Given the description of an element on the screen output the (x, y) to click on. 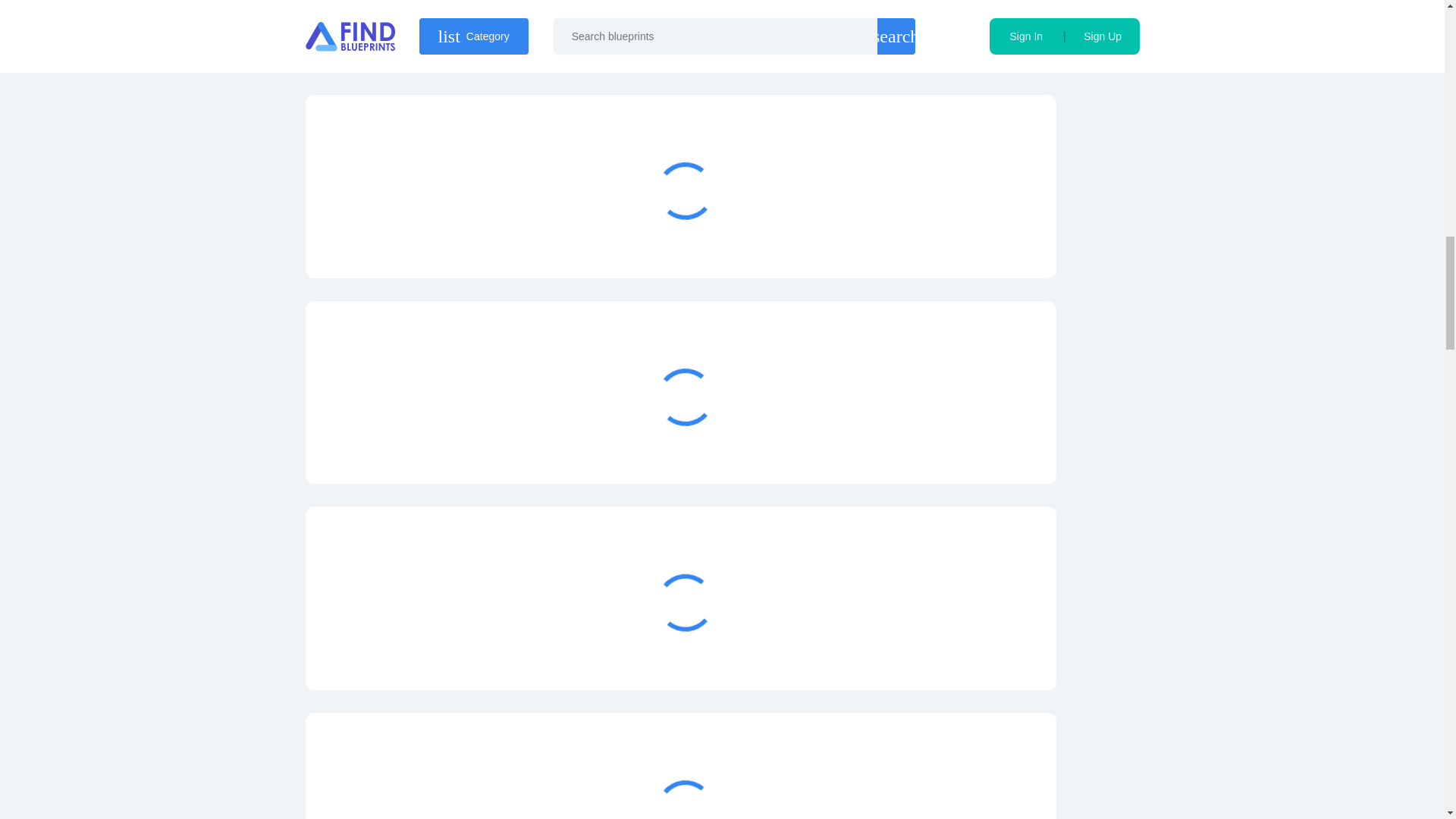
More (962, 447)
More (962, 35)
More (962, 653)
More (962, 241)
